Given the description of an element on the screen output the (x, y) to click on. 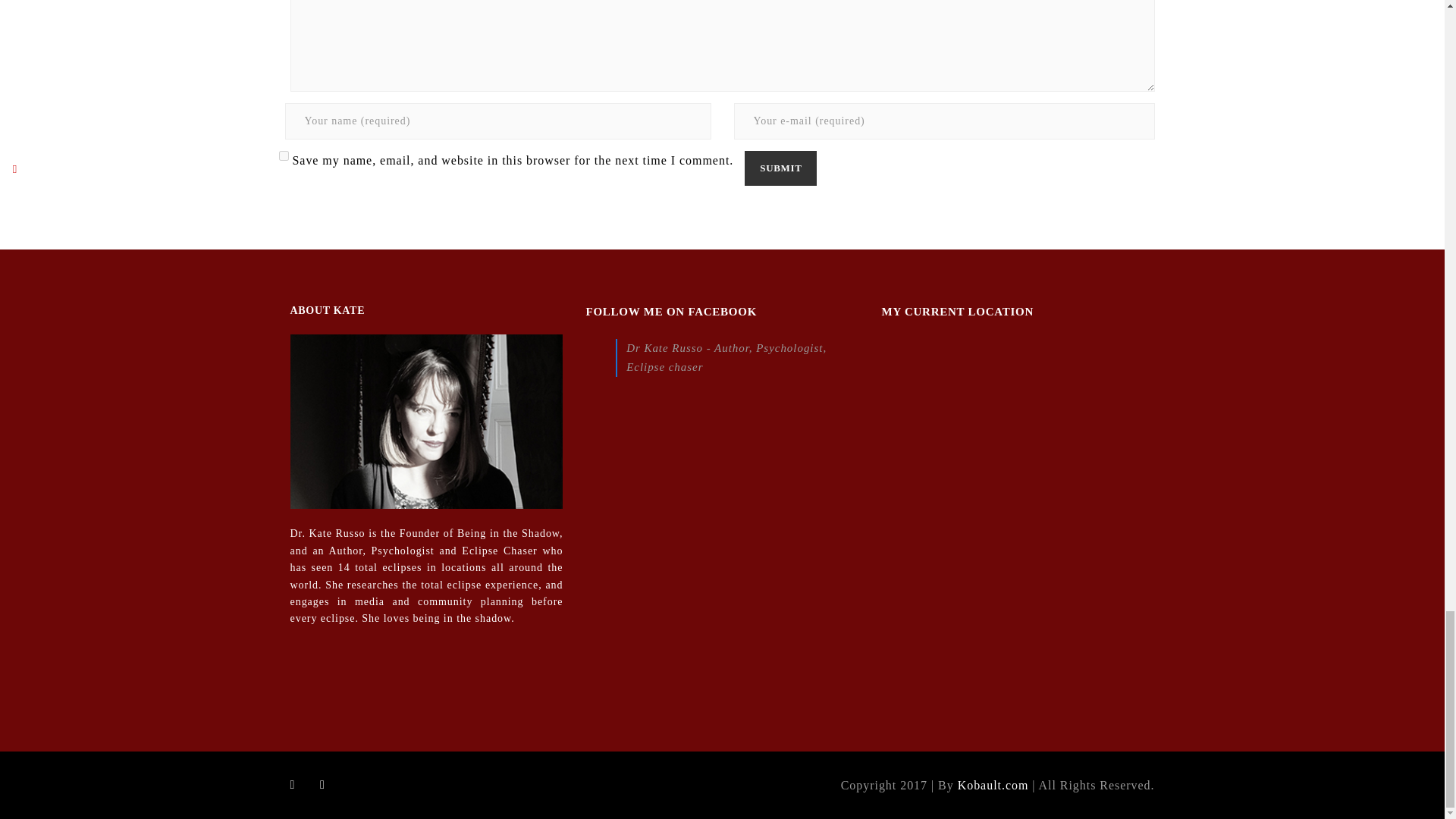
yes (283, 155)
Submit (780, 167)
